Given the description of an element on the screen output the (x, y) to click on. 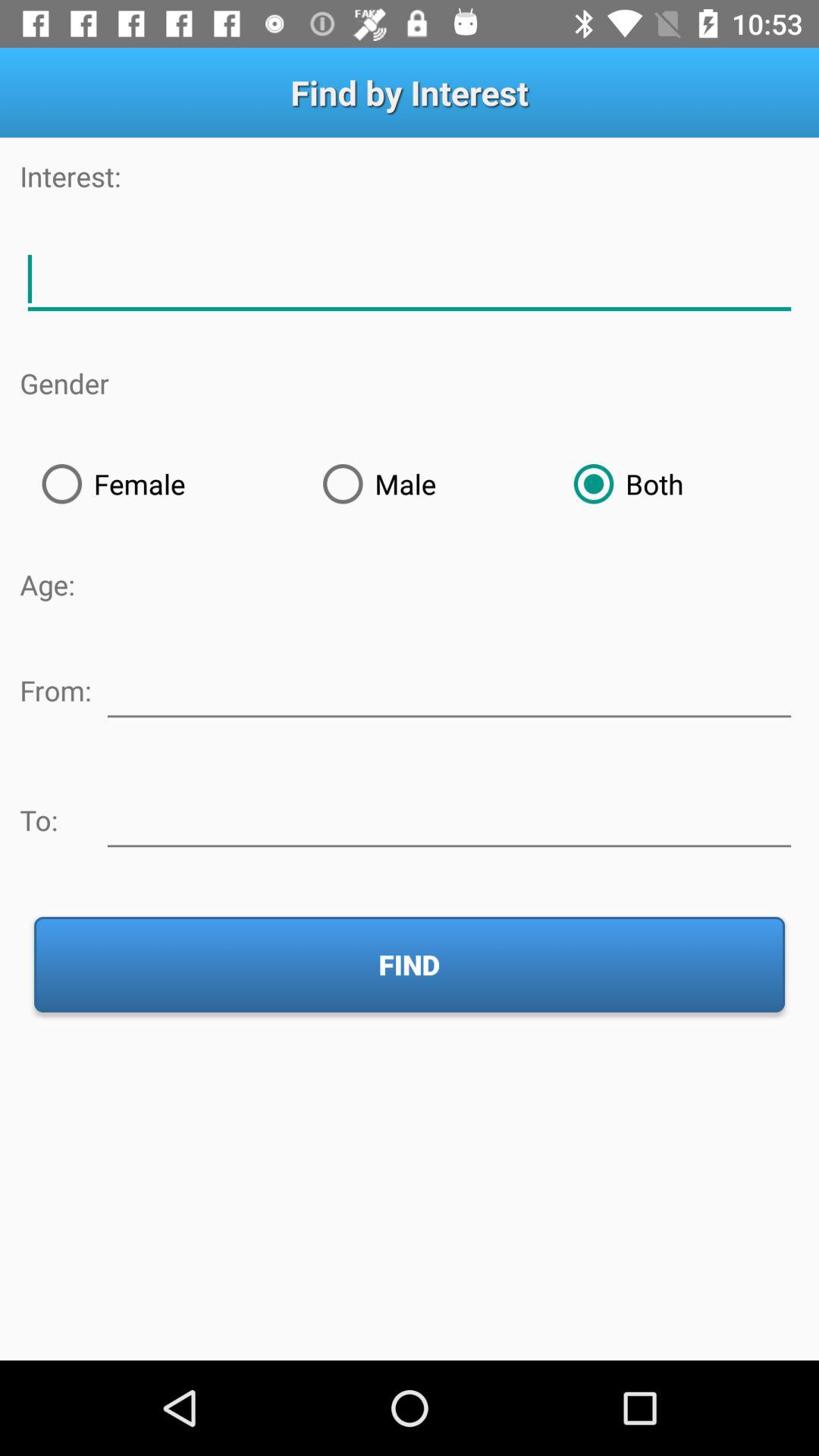
choose the both radio button (674, 483)
